Given the description of an element on the screen output the (x, y) to click on. 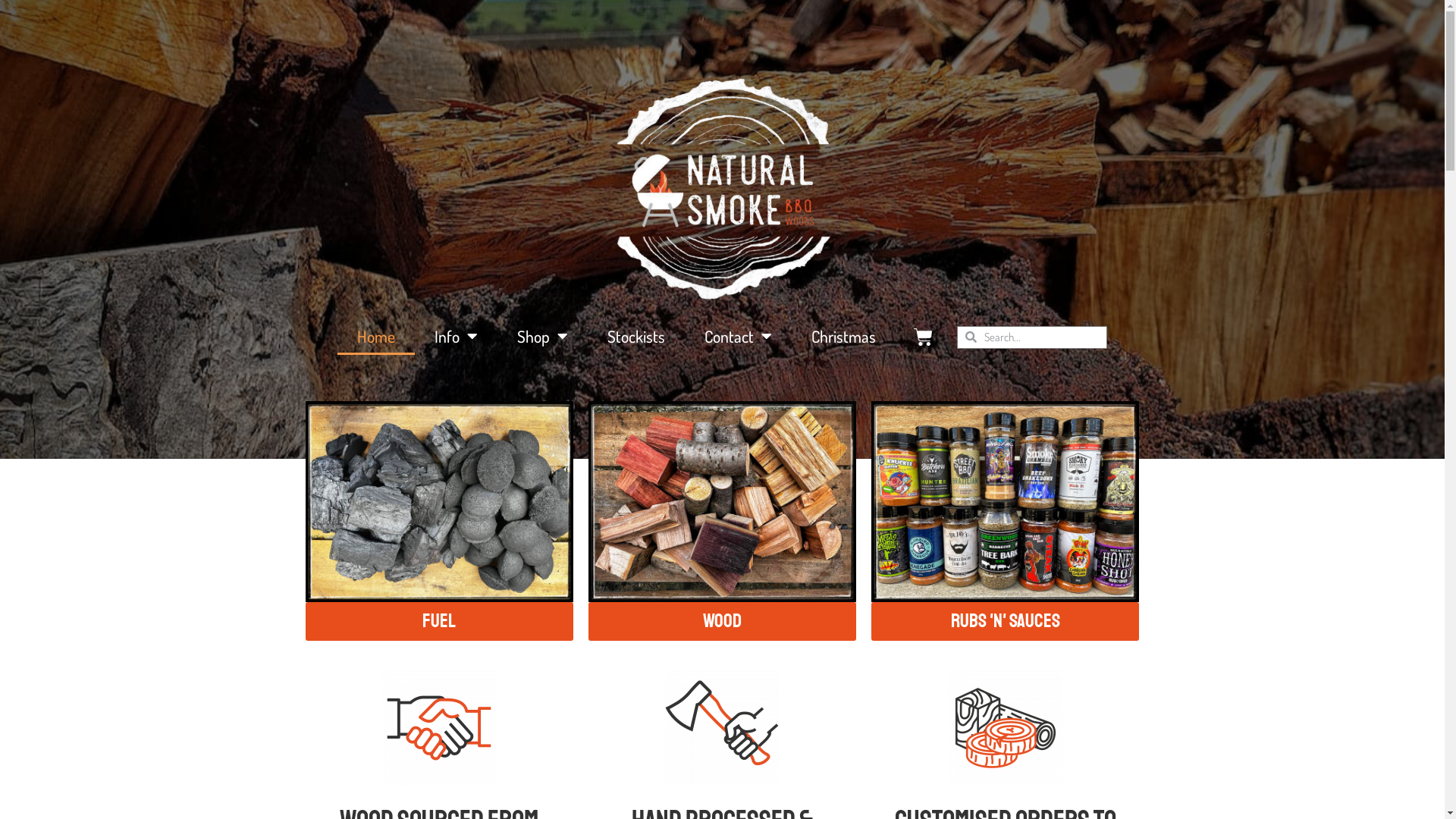
Home Element type: text (375, 336)
Shop Element type: text (542, 336)
Info Element type: text (455, 336)
Contact Element type: text (737, 336)
Rubs 'n' Sauces Element type: text (1005, 621)
Wood Element type: text (722, 621)
Stockists Element type: text (635, 336)
Fuel Element type: text (438, 621)
Christmas Element type: text (843, 336)
